Given the description of an element on the screen output the (x, y) to click on. 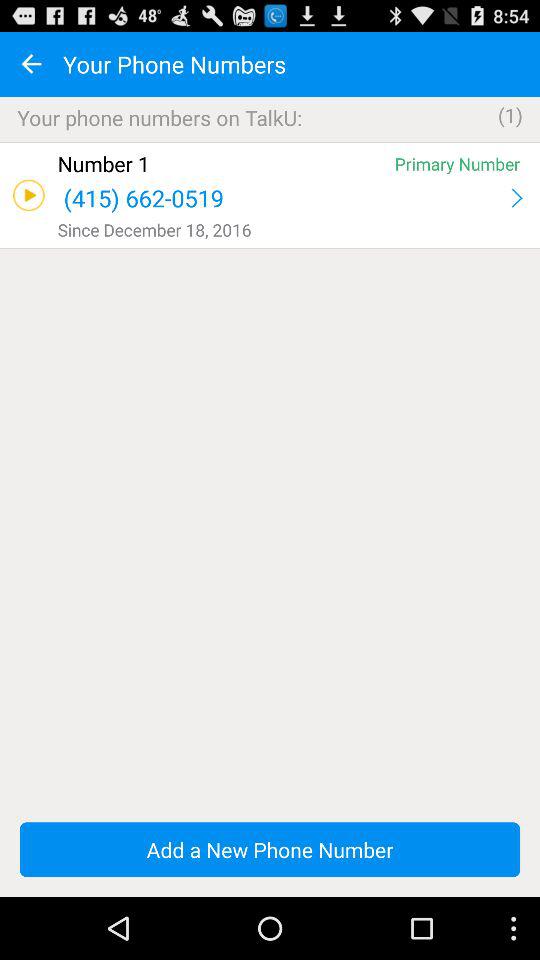
open item above  (415) 662-0519 icon (222, 163)
